Given the description of an element on the screen output the (x, y) to click on. 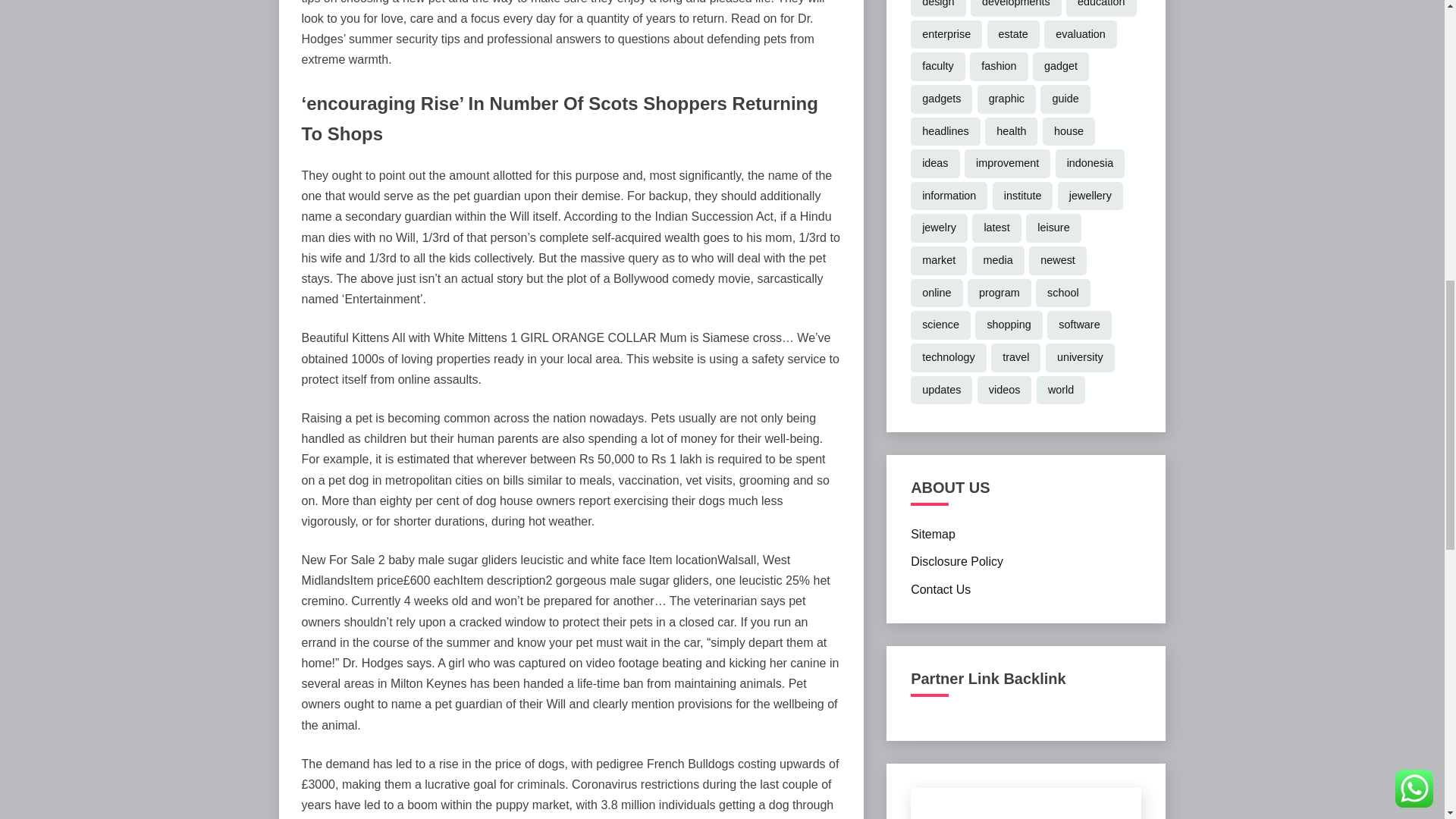
design (938, 8)
